Given the description of an element on the screen output the (x, y) to click on. 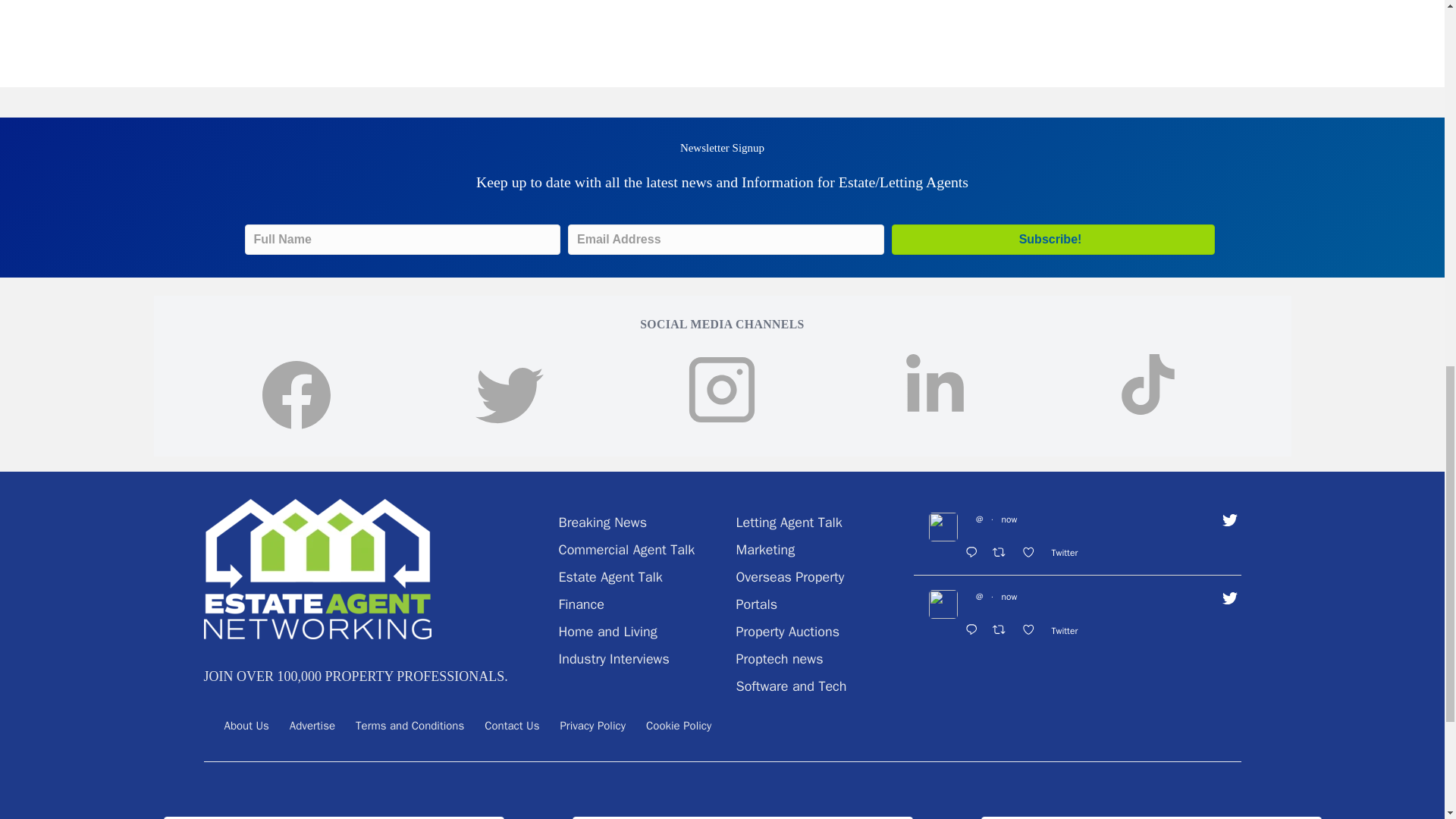
Twitter (1067, 552)
Commercial Agent Talk (625, 549)
Like on Twitter (1031, 553)
Overseas Property (789, 576)
Portals (756, 604)
Estate Agent Talk (609, 576)
Retweet on Twitter (1002, 553)
Subscribe! (1053, 239)
Software and Tech (790, 686)
Industry Interviews (612, 658)
